Given the description of an element on the screen output the (x, y) to click on. 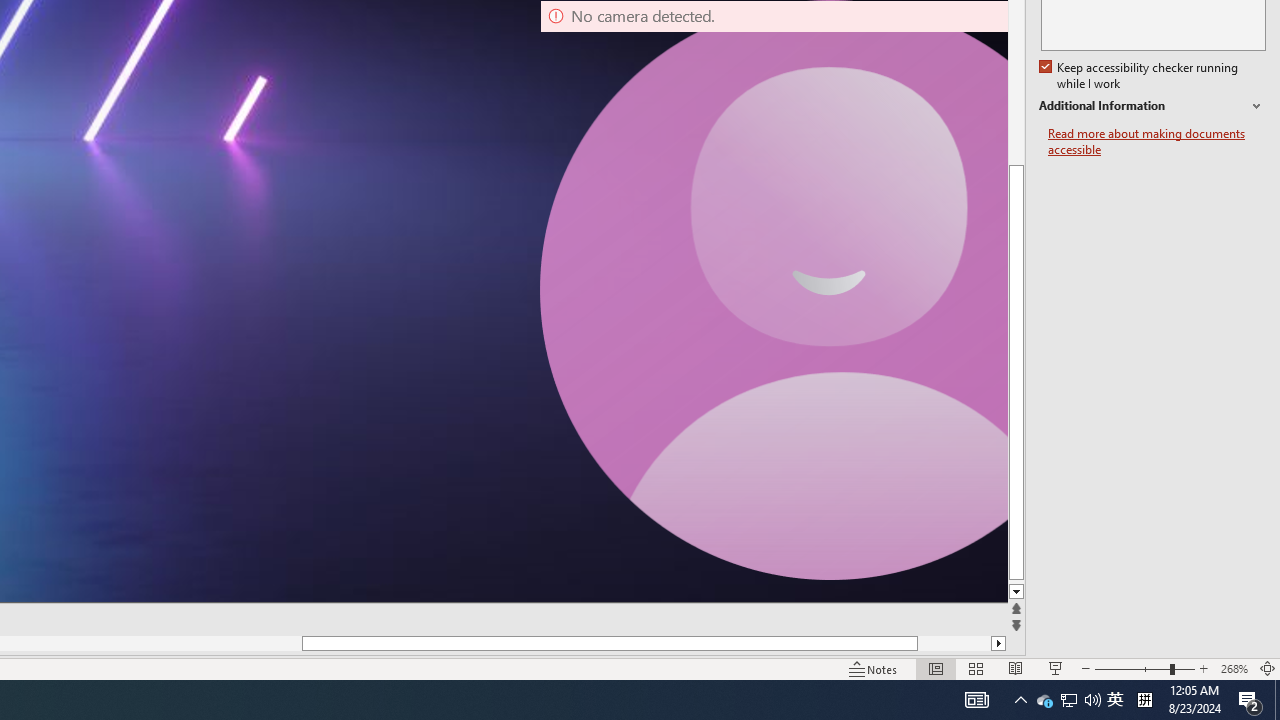
Zoom (1144, 668)
Notes  (874, 668)
Reading View (1015, 668)
Slide Show (1055, 668)
Additional Information (1152, 106)
Read more about making documents accessible (1156, 142)
Zoom In (1204, 668)
Zoom Out (1131, 668)
Zoom 268% (1234, 668)
Keep accessibility checker running while I work (1140, 76)
Normal (936, 668)
Slide Sorter (975, 668)
Zoom to Fit  (1267, 668)
